Given the description of an element on the screen output the (x, y) to click on. 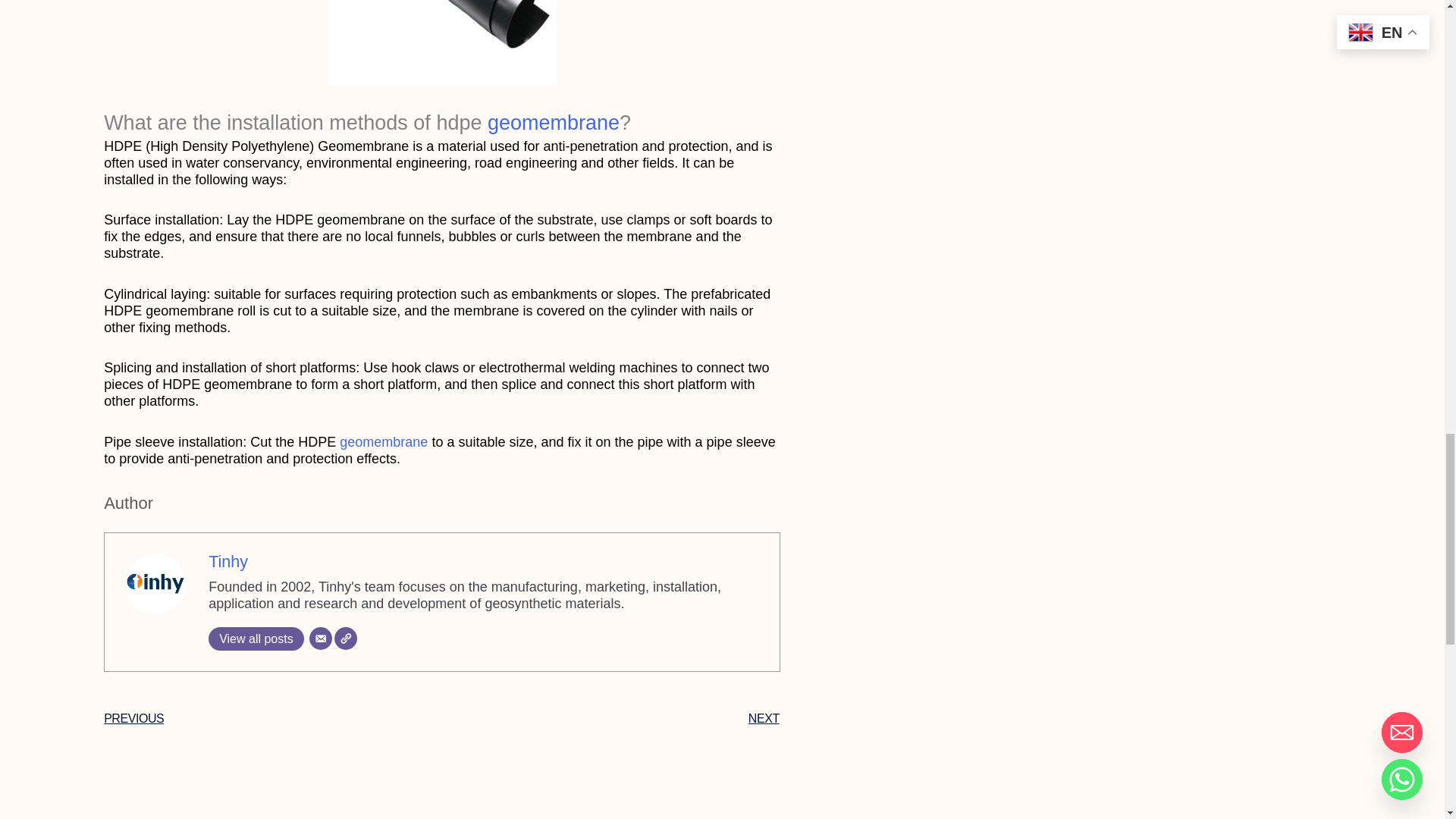
What are the characteristics of HDPE geomembrane 2 (442, 42)
View all posts (256, 638)
What are the characteristics of HDPE geomembrane 3 (155, 583)
Tinhy (227, 561)
